Given the description of an element on the screen output the (x, y) to click on. 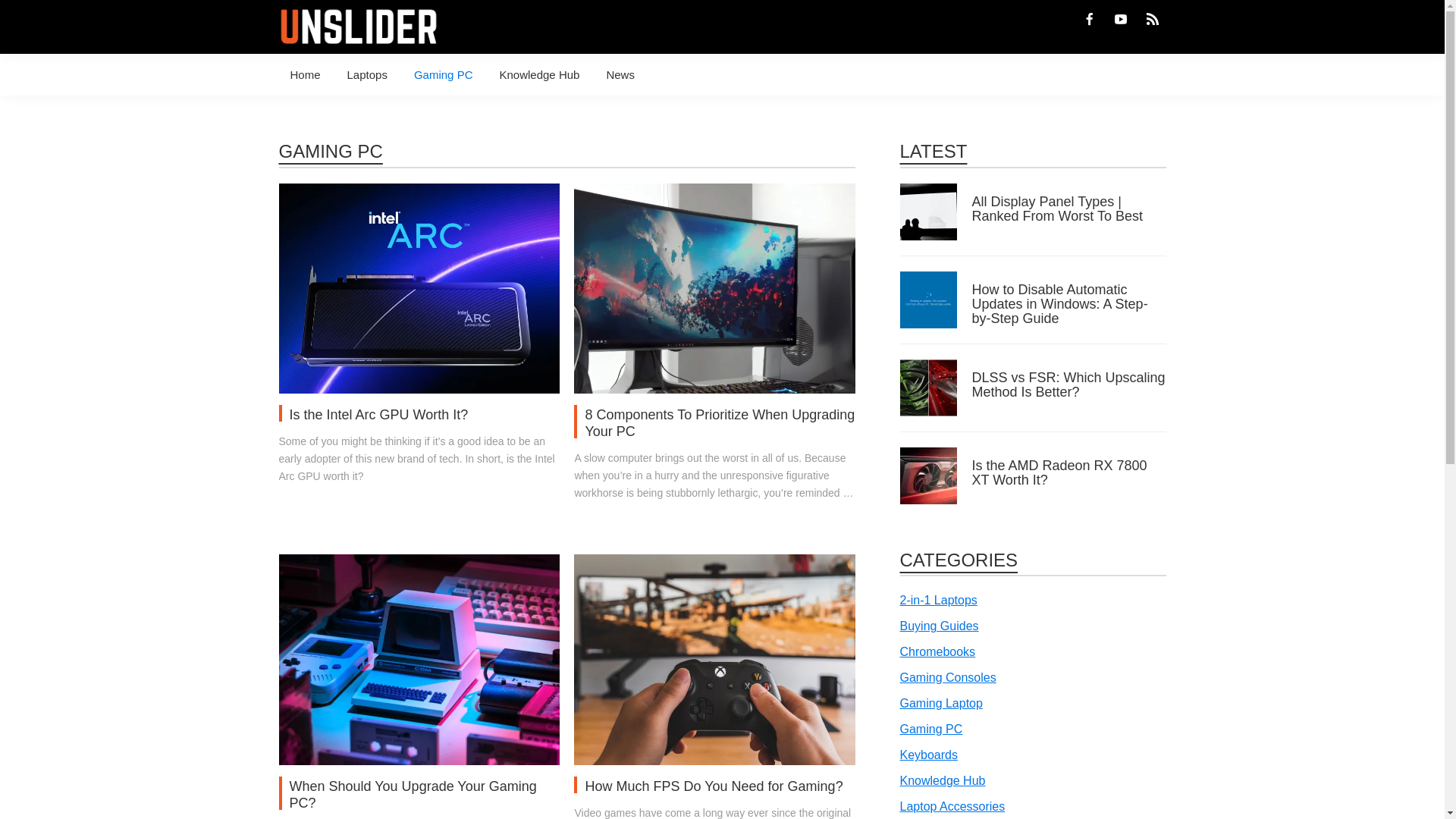
Home (305, 74)
When Should You Upgrade Your Gaming PC? (413, 794)
Is the Intel Arc GPU Worth It? (378, 414)
Knowledge Hub (539, 74)
How Much FPS Do You Need for Gaming? (713, 564)
Laptops (367, 74)
How Much FPS Do You Need for Gaming? (714, 785)
Is the Intel Arc GPU Worth It? (419, 193)
Gaming PC (443, 74)
When Should You Upgrade Your Gaming PC? (419, 564)
8 Components To Prioritize When Upgrading Your PC (719, 422)
News (620, 74)
8 Components To Prioritize When Upgrading Your PC (713, 193)
